Given the description of an element on the screen output the (x, y) to click on. 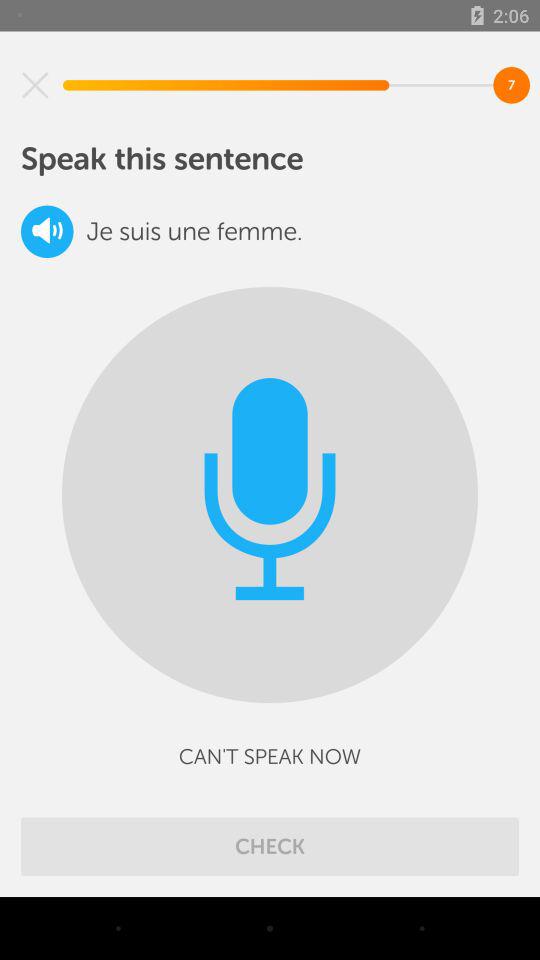
tap can t speak (270, 756)
